Given the description of an element on the screen output the (x, y) to click on. 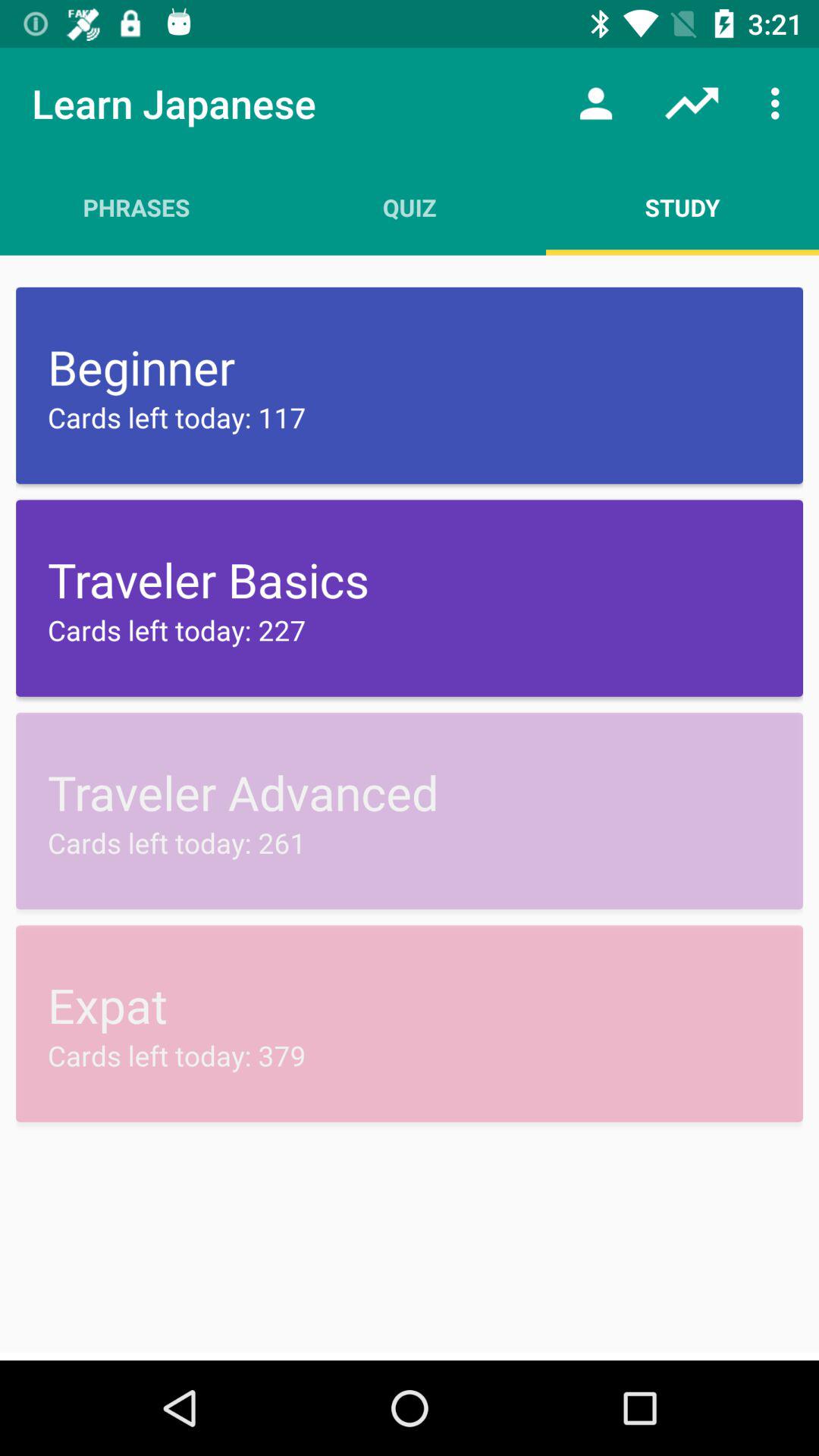
click icon below the learn japanese icon (136, 207)
